Given the description of an element on the screen output the (x, y) to click on. 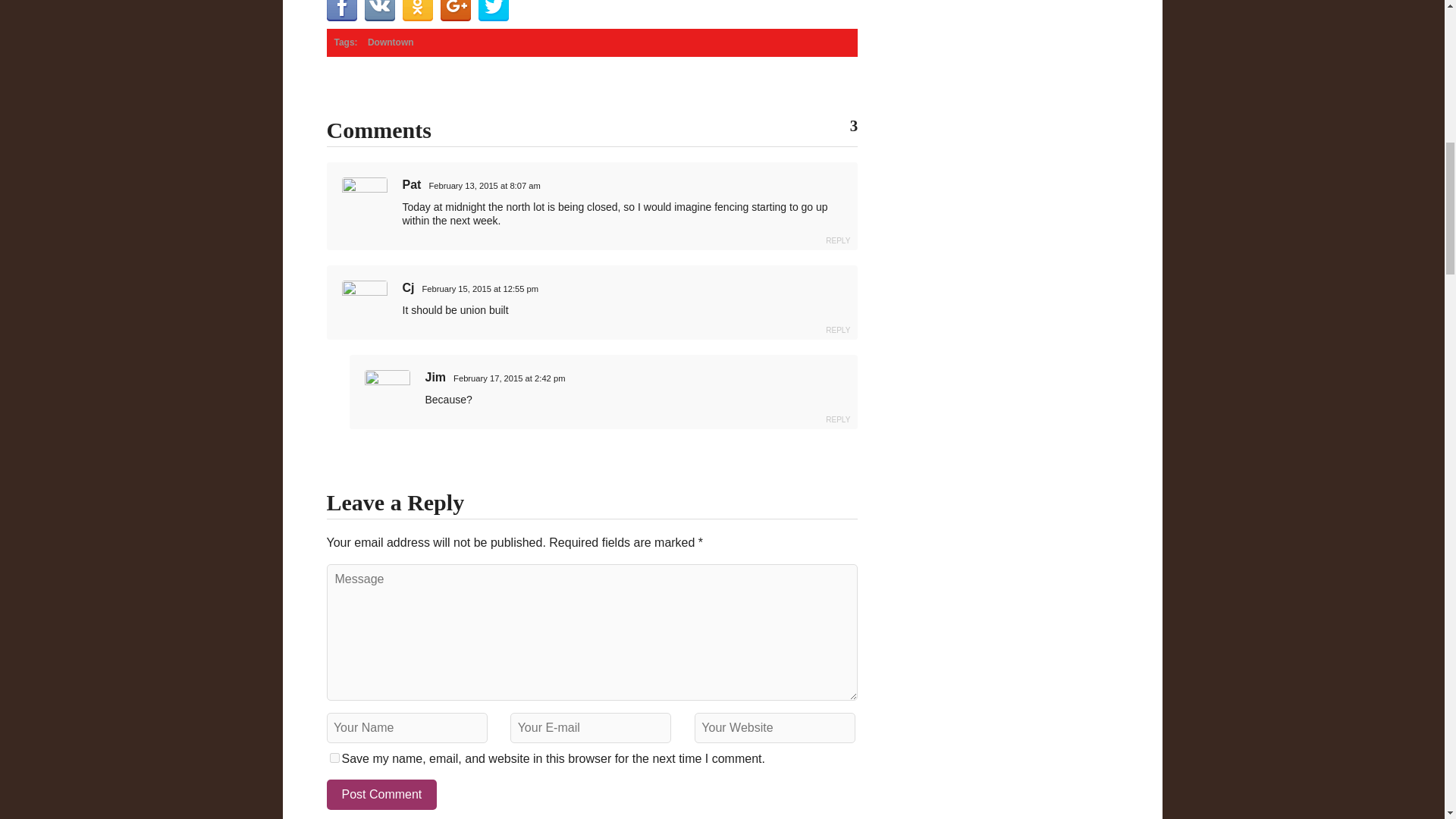
Share in Twitter (492, 10)
Share in OK (416, 10)
Post Comment (381, 794)
Share in Facebook (341, 10)
yes (334, 757)
Share in VK (379, 10)
